Given the description of an element on the screen output the (x, y) to click on. 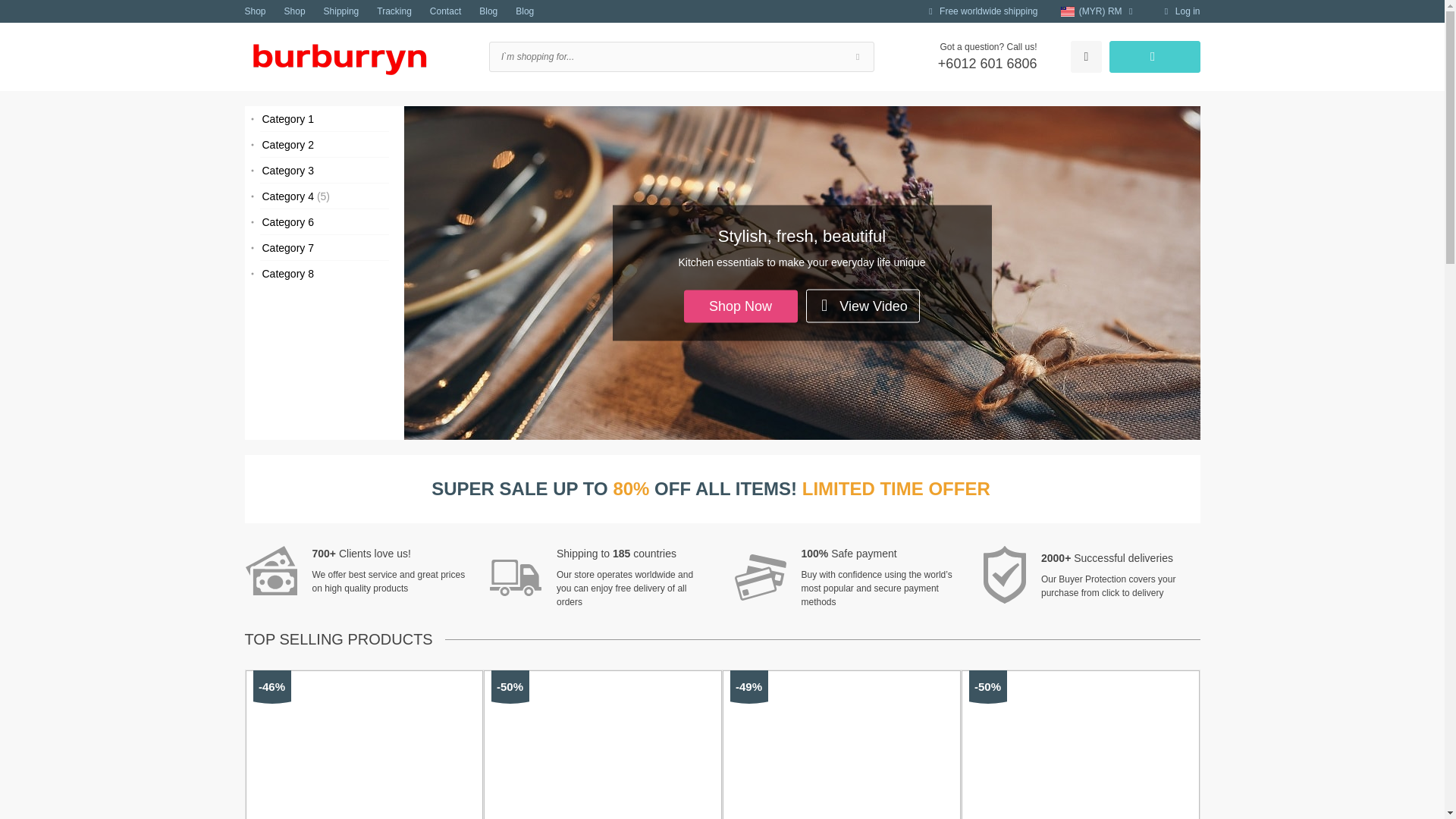
Shipping (341, 11)
Tracking (394, 11)
Category 3 (323, 170)
Category 8 (323, 273)
Shop (294, 11)
Log in (1179, 10)
View Video (863, 305)
Category 1 (323, 118)
Shop (254, 11)
Category 7 (323, 248)
